Given the description of an element on the screen output the (x, y) to click on. 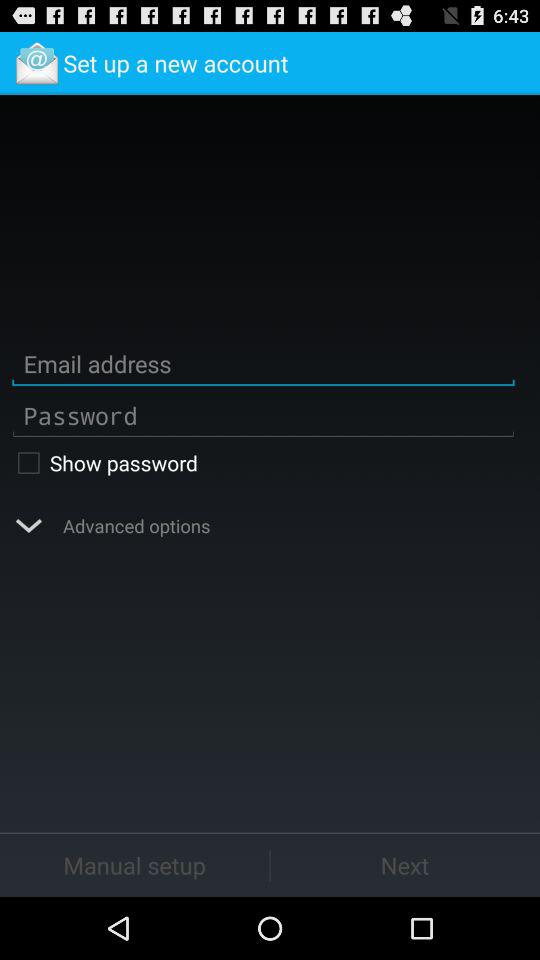
type your password (263, 415)
